Given the description of an element on the screen output the (x, y) to click on. 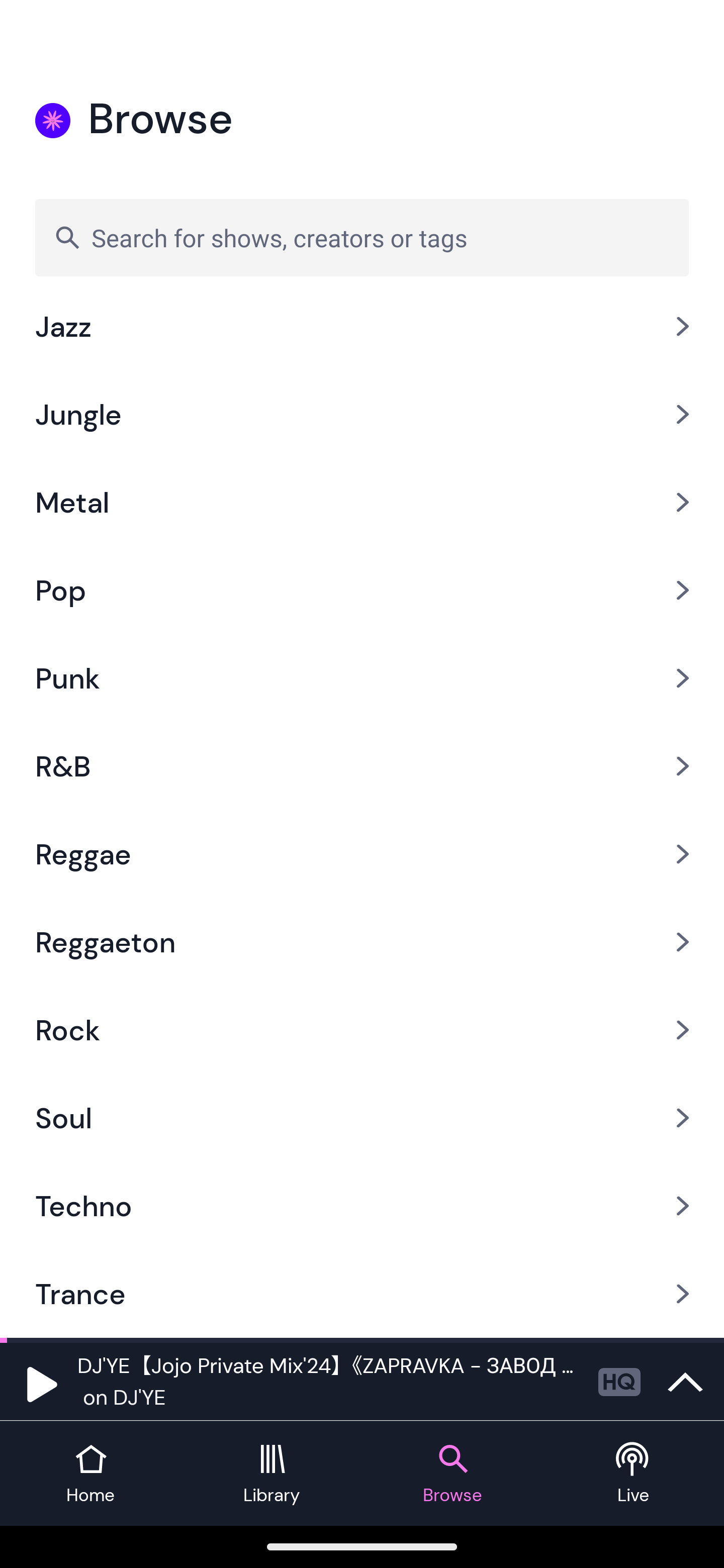
Search for shows, creators or tags (361, 237)
Jazz (361, 336)
Jungle (361, 413)
Metal (361, 501)
Pop (361, 589)
Punk (361, 677)
R&B (361, 766)
Reggae (361, 854)
Reggaeton (361, 942)
Rock (361, 1030)
Soul (361, 1117)
Techno (361, 1205)
Trance (361, 1293)
Home tab Home (90, 1473)
Library tab Library (271, 1473)
Browse tab Browse (452, 1473)
Live tab Live (633, 1473)
